Given the description of an element on the screen output the (x, y) to click on. 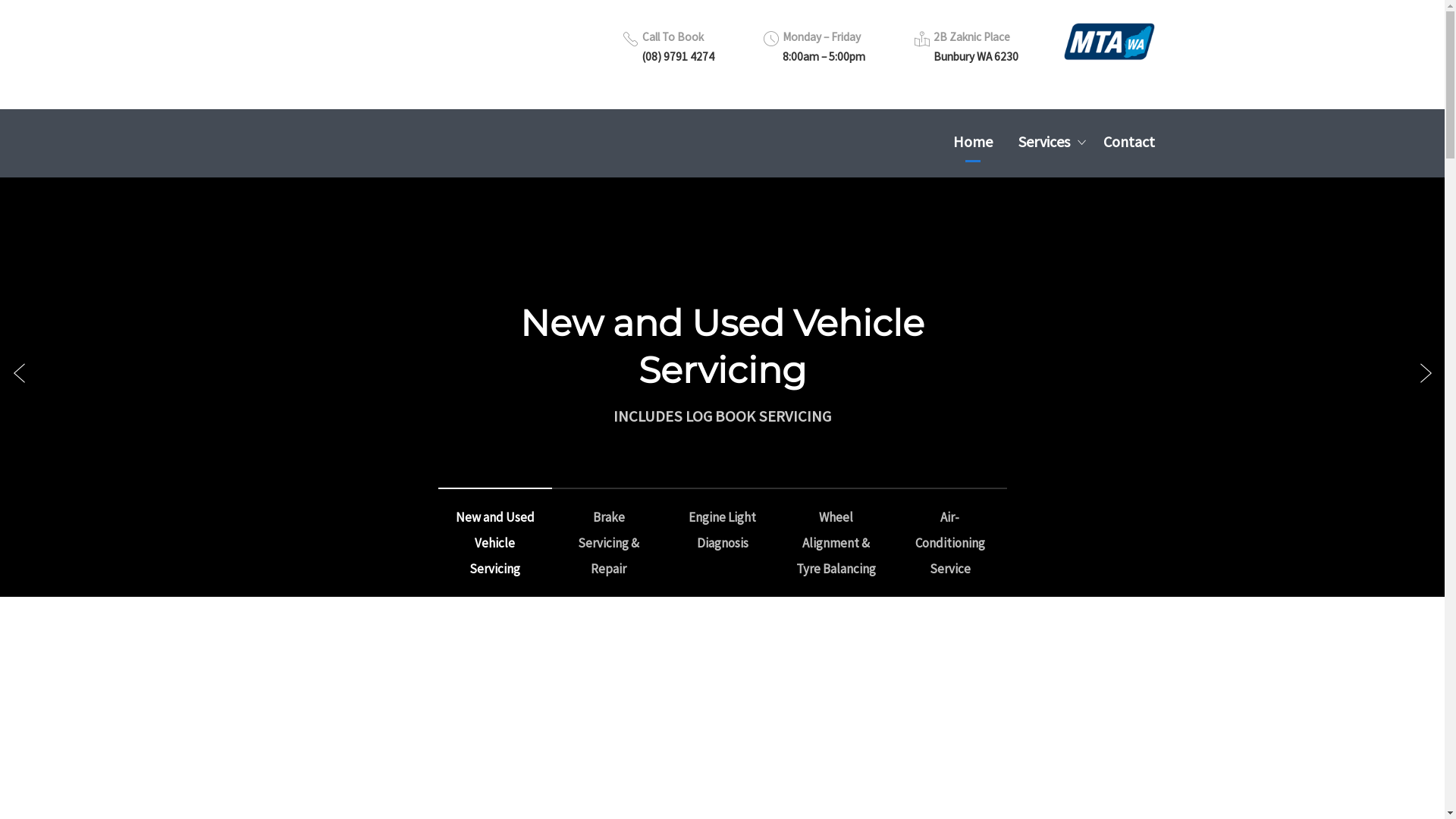
Contact Element type: text (1128, 141)
Bunbury WA 6230 Element type: text (974, 56)
Services Element type: text (1046, 141)
(08) 9791 4274 Element type: text (677, 56)
Home Element type: text (971, 141)
New and Used Vehicle Servicing Element type: text (722, 346)
2B Zaknic Place Element type: text (970, 36)
